Given the description of an element on the screen output the (x, y) to click on. 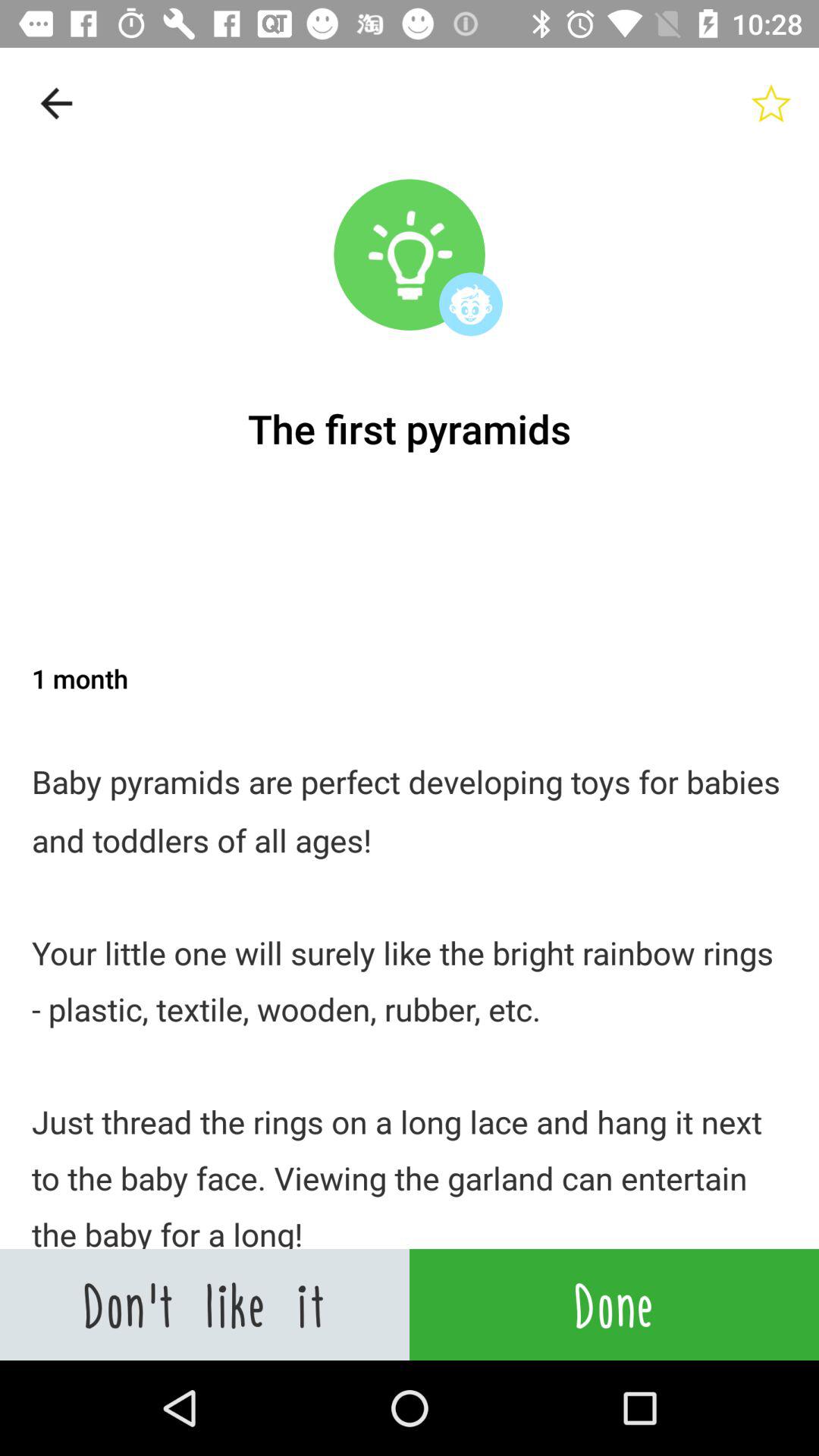
open icon to the left of done icon (204, 1304)
